Given the description of an element on the screen output the (x, y) to click on. 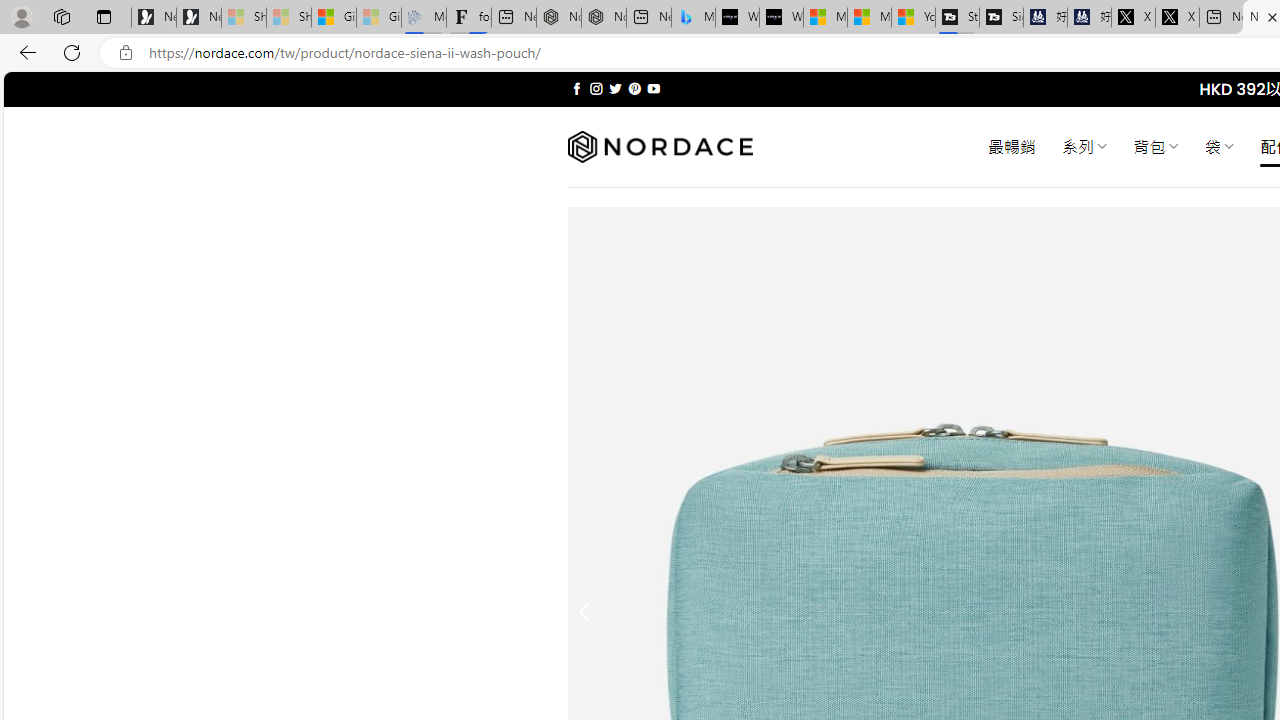
Microsoft Start (868, 17)
Microsoft Bing Travel - Shangri-La Hotel Bangkok (693, 17)
Follow on Twitter (615, 88)
Nordace (659, 147)
Streaming Coverage | T3 (957, 17)
X (1177, 17)
Follow on Facebook (576, 88)
Personal Profile (21, 16)
Newsletter Sign Up (198, 17)
View site information (125, 53)
Tab actions menu (104, 16)
